Given the description of an element on the screen output the (x, y) to click on. 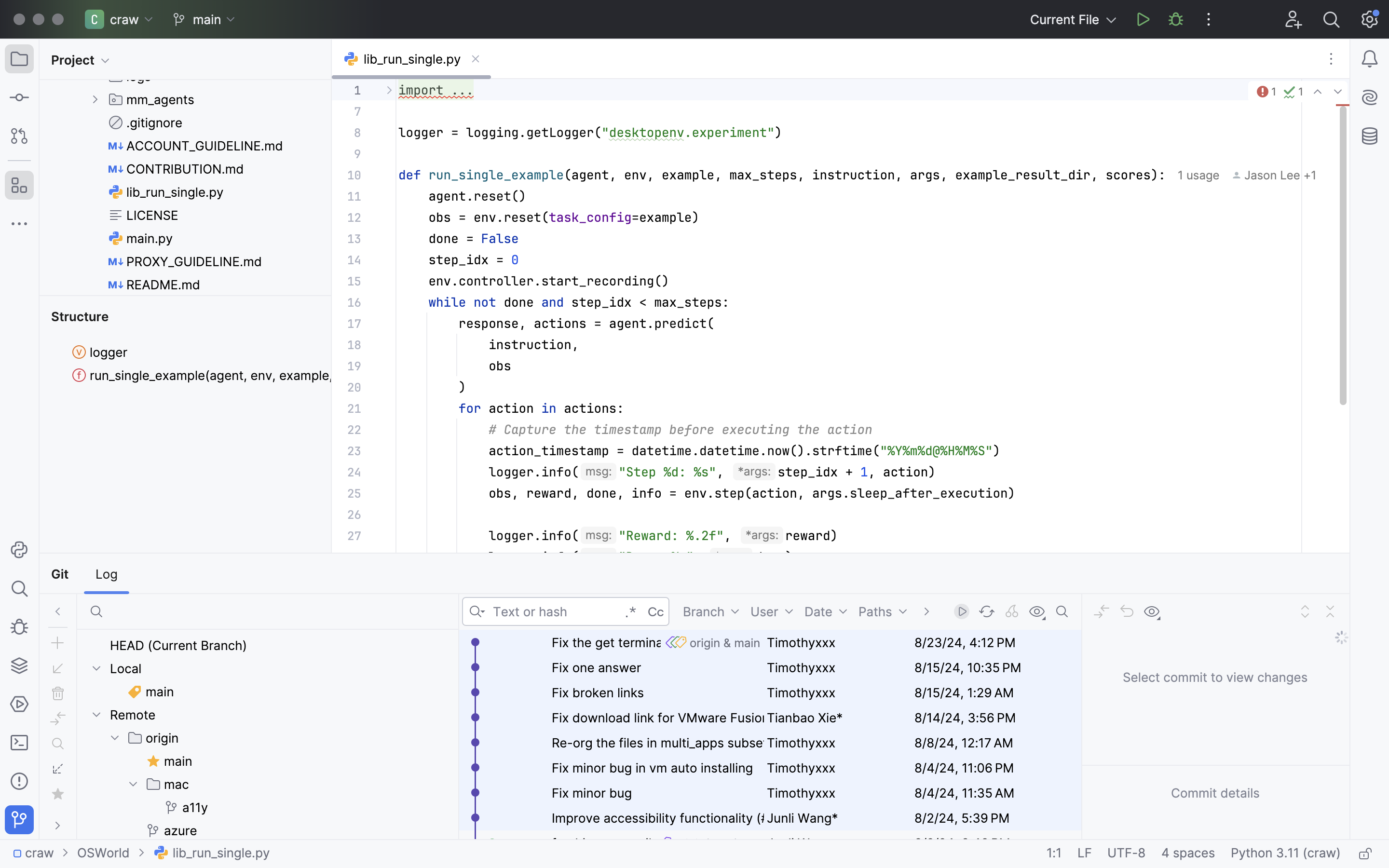
Python 3.11 (craw) Element type: AXStaticText (1285, 854)
1:1 Element type: AXStaticText (1053, 854)
File

2 Element type: AXStaticText (155, 573)
4 spaces Element type: AXStaticText (1188, 853)
